Given the description of an element on the screen output the (x, y) to click on. 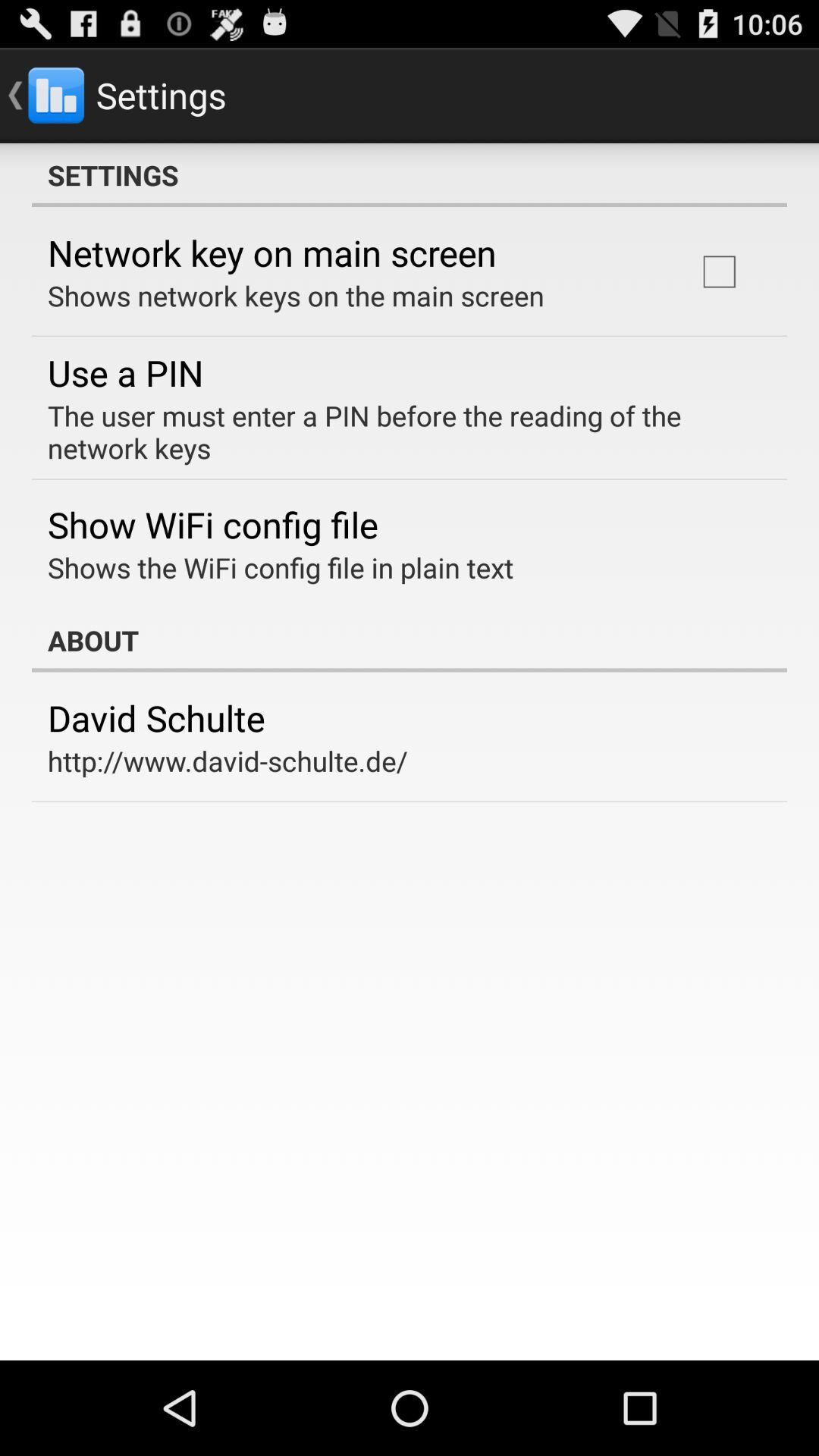
scroll until the http www david app (227, 760)
